Given the description of an element on the screen output the (x, y) to click on. 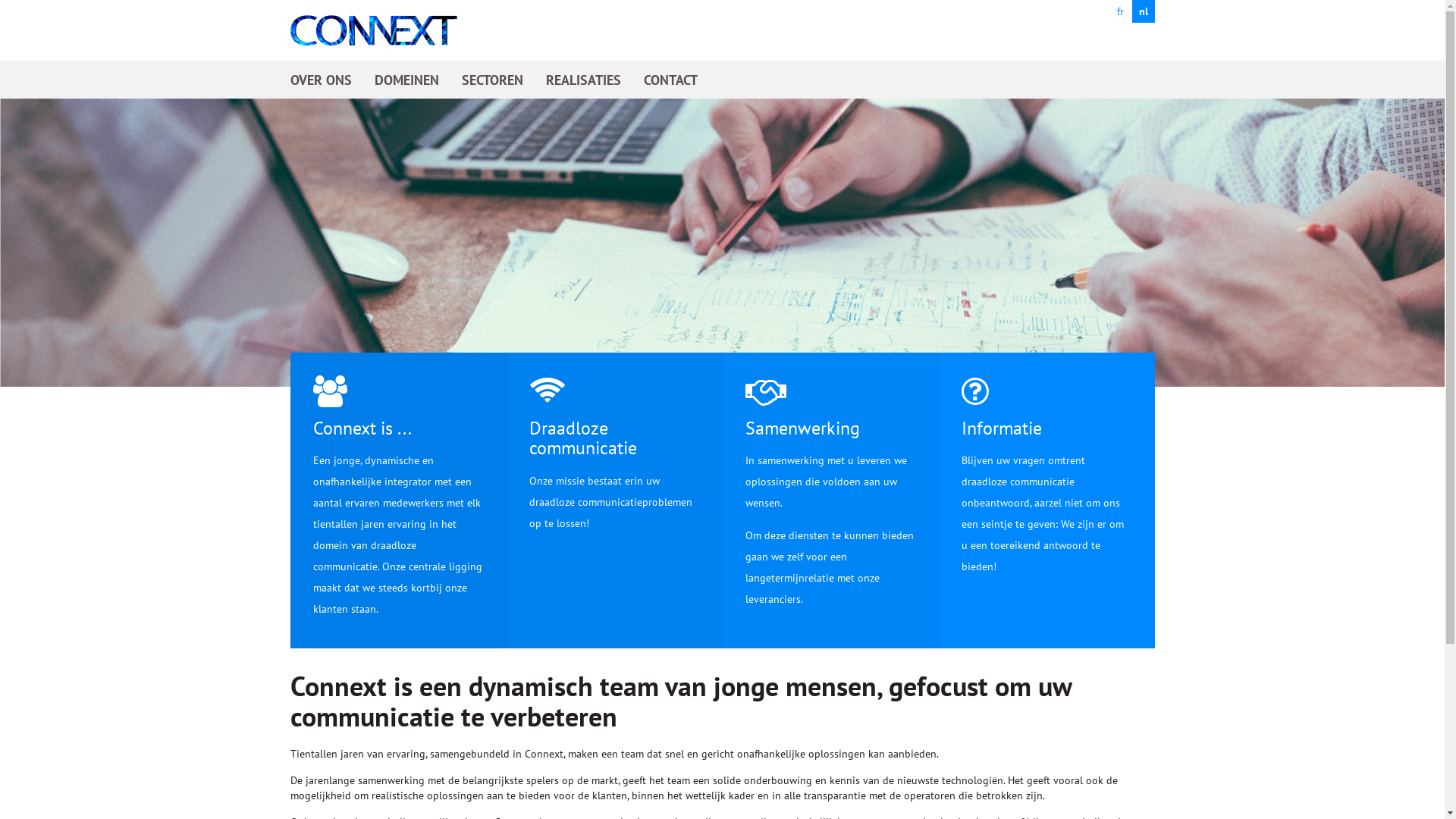
SECTOREN Element type: text (491, 79)
DOMEINEN Element type: text (406, 79)
OVER ONS Element type: text (320, 79)
fr Element type: text (1119, 11)
CONTACT Element type: text (669, 79)
nl Element type: text (1142, 11)
REALISATIES Element type: text (583, 79)
